Given the description of an element on the screen output the (x, y) to click on. 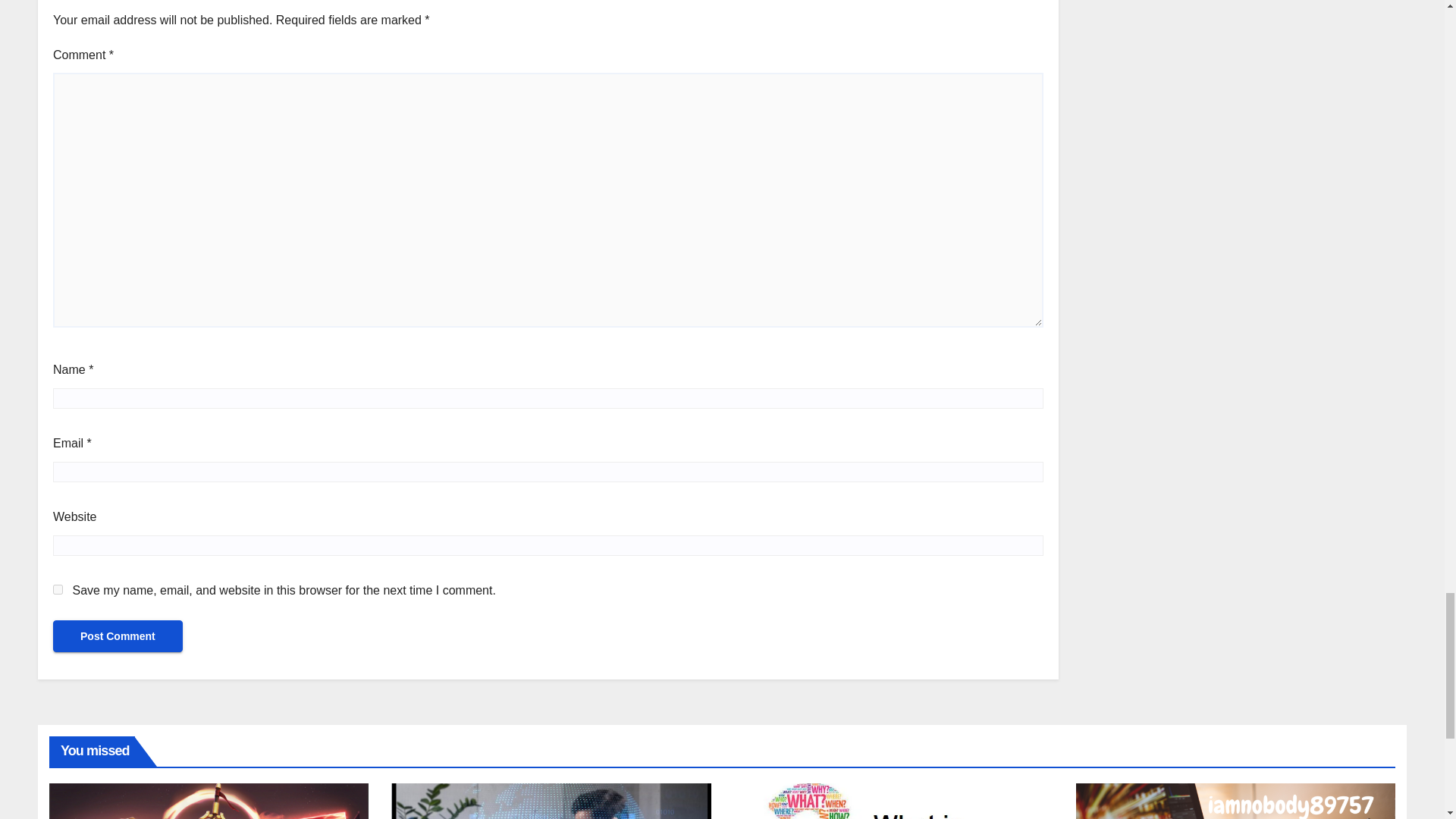
yes (57, 589)
Post Comment (117, 635)
